Given the description of an element on the screen output the (x, y) to click on. 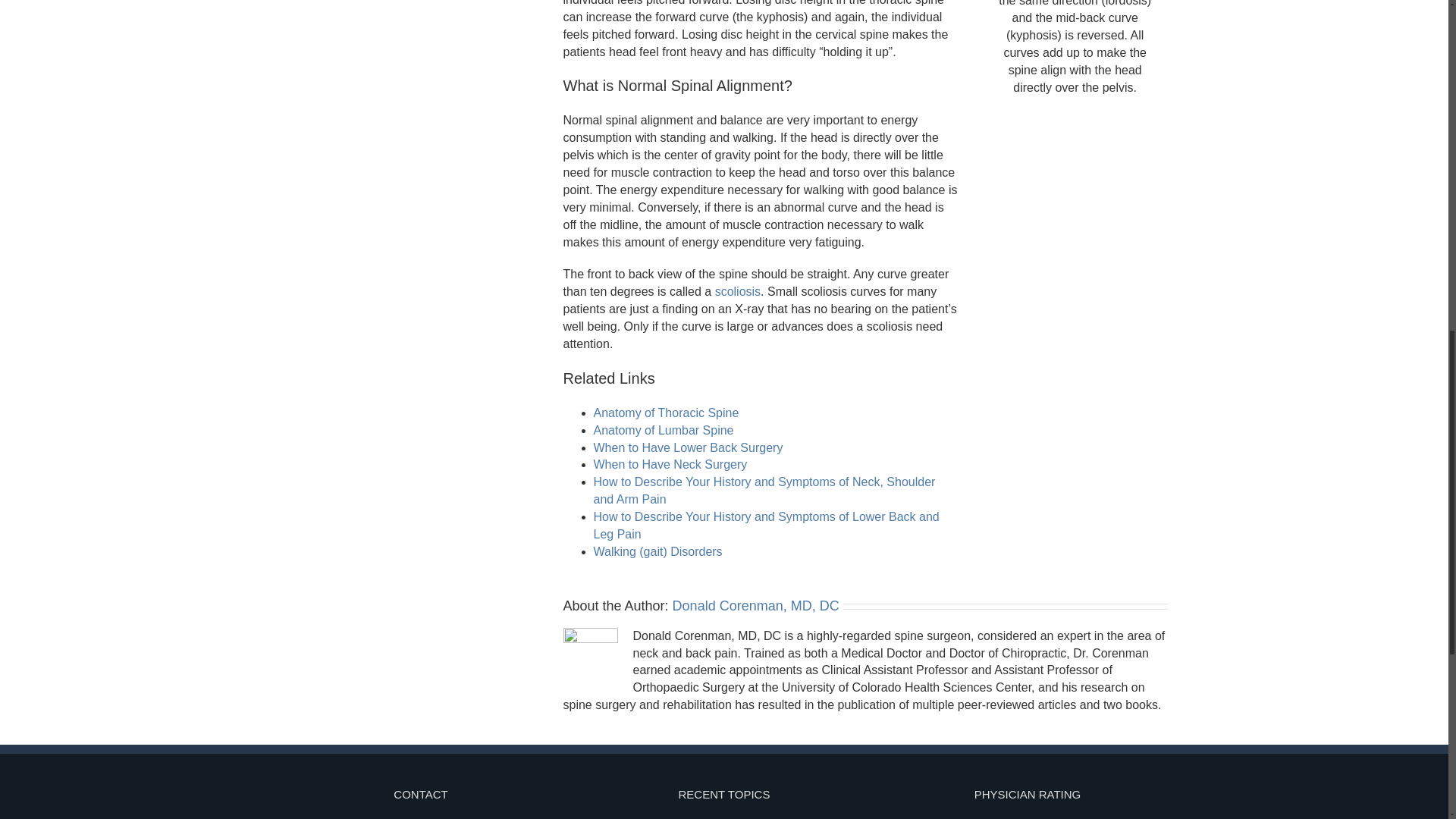
Scoliosis (737, 291)
Posts by Donald Corenman, MD, DC (756, 605)
